Given the description of an element on the screen output the (x, y) to click on. 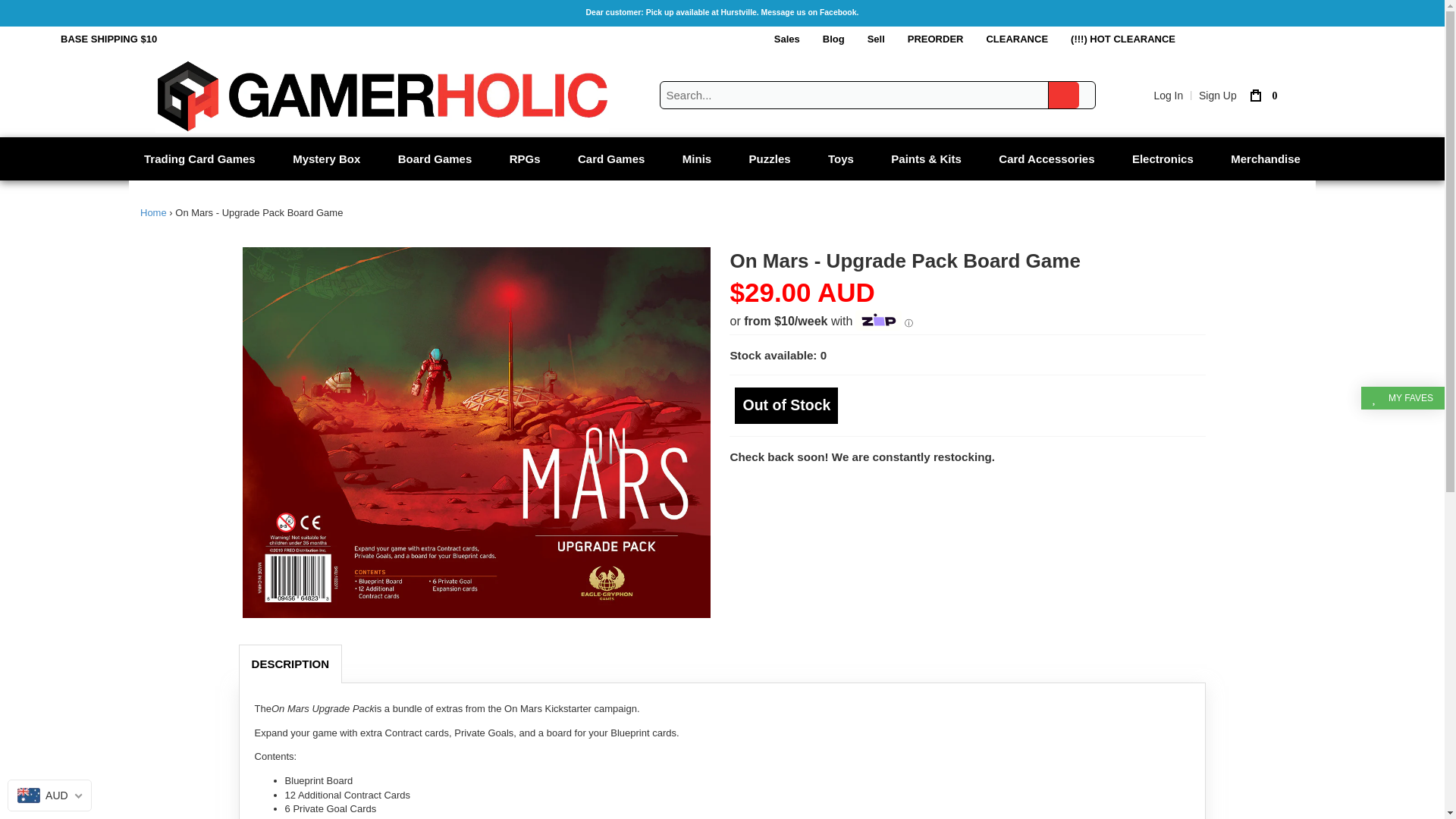
Blog (833, 40)
Log In (1167, 95)
cart (1259, 94)
PREORDER (935, 40)
Sales (786, 40)
Out of Stock (786, 405)
Home (153, 212)
Trading Card Games (199, 158)
CLEARANCE (1016, 40)
Sell (876, 40)
0 (1259, 94)
Sign Up (1217, 95)
